Given the description of an element on the screen output the (x, y) to click on. 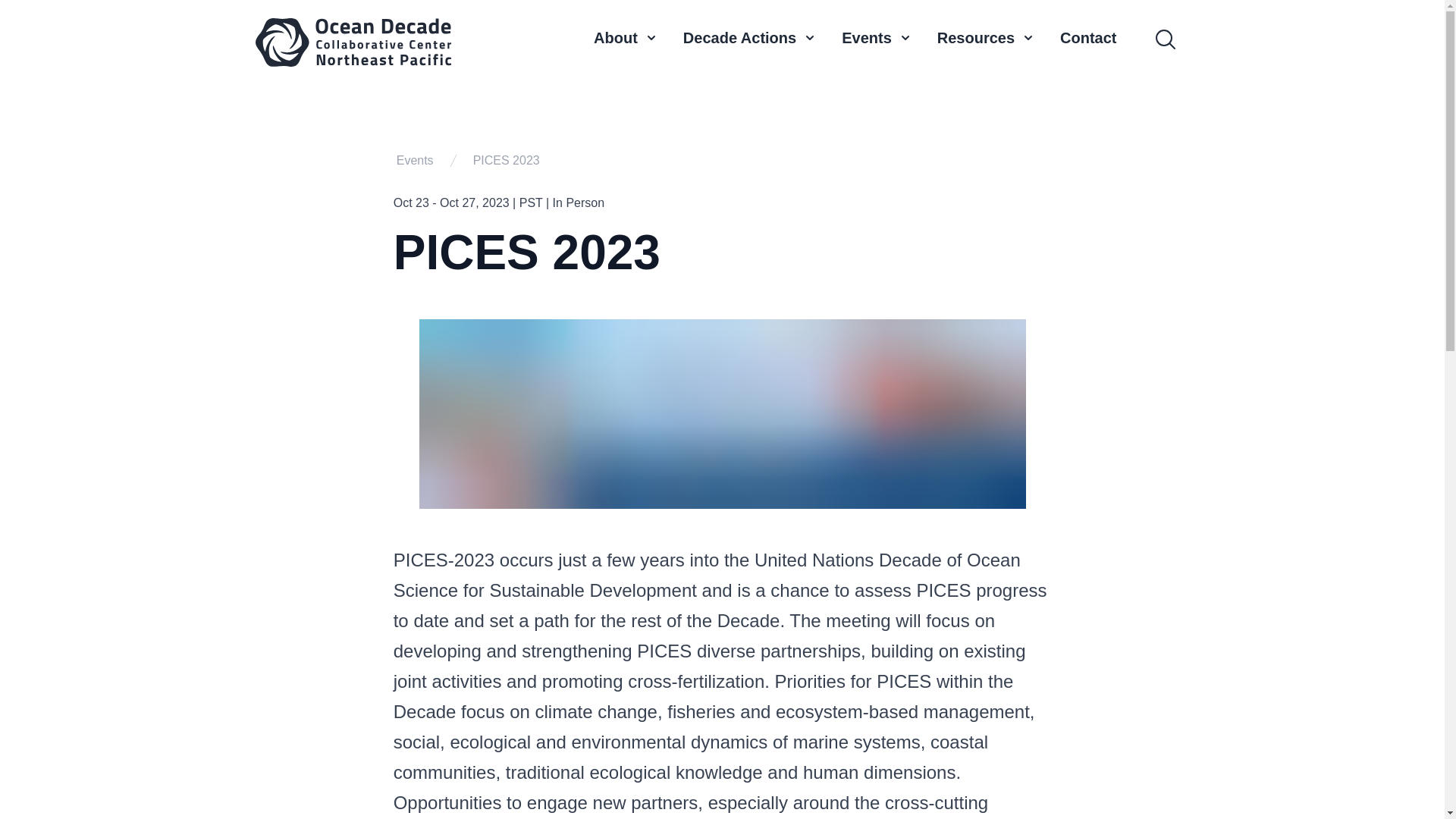
Contact (1087, 42)
Resources (986, 37)
About (626, 37)
Decade Actions (749, 37)
Events (876, 37)
